Given the description of an element on the screen output the (x, y) to click on. 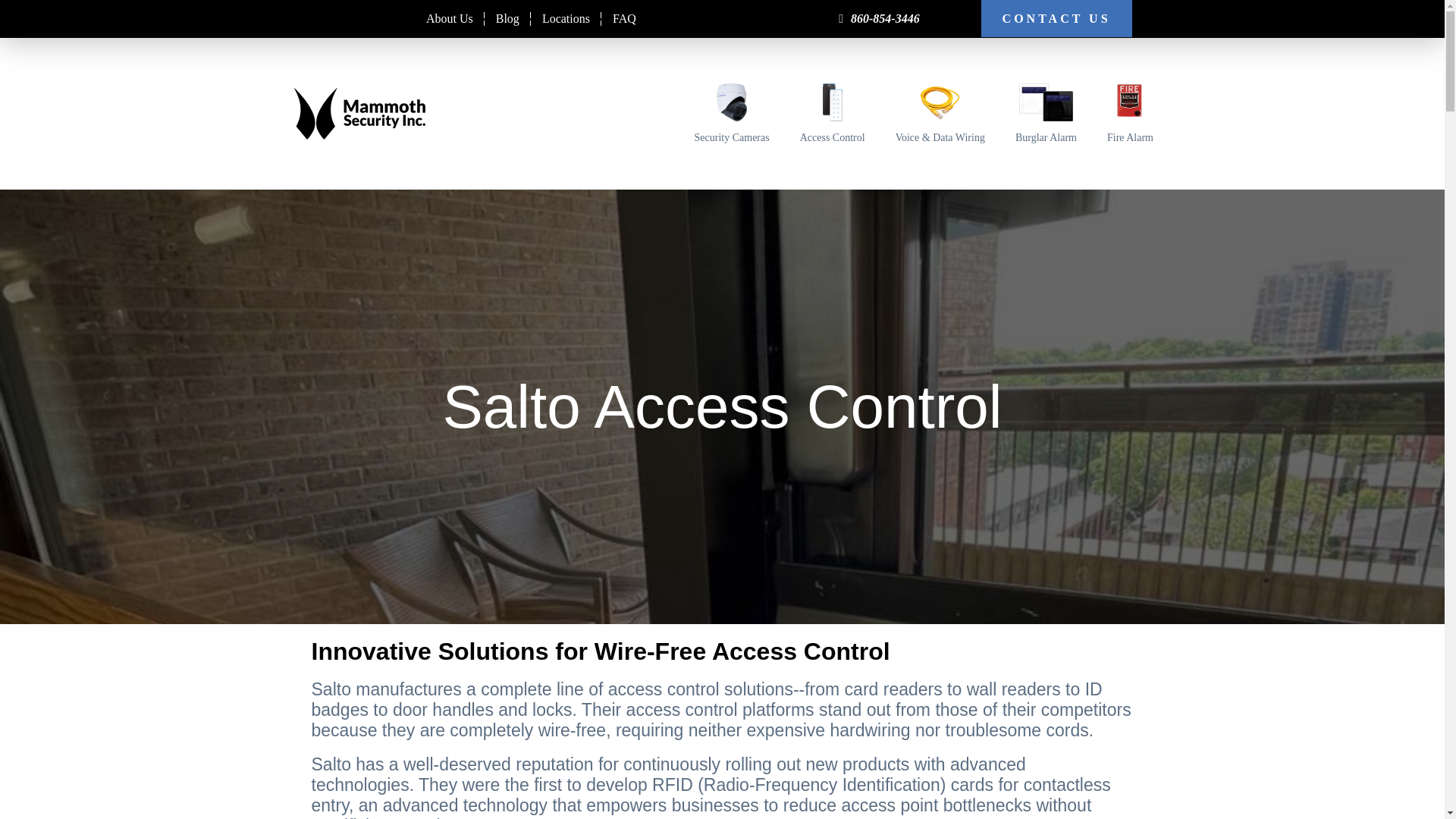
Locations (565, 18)
About Us (449, 18)
860-854-3446 (885, 18)
FAQ (624, 18)
Blog (507, 18)
CONTACT US (1056, 18)
